Given the description of an element on the screen output the (x, y) to click on. 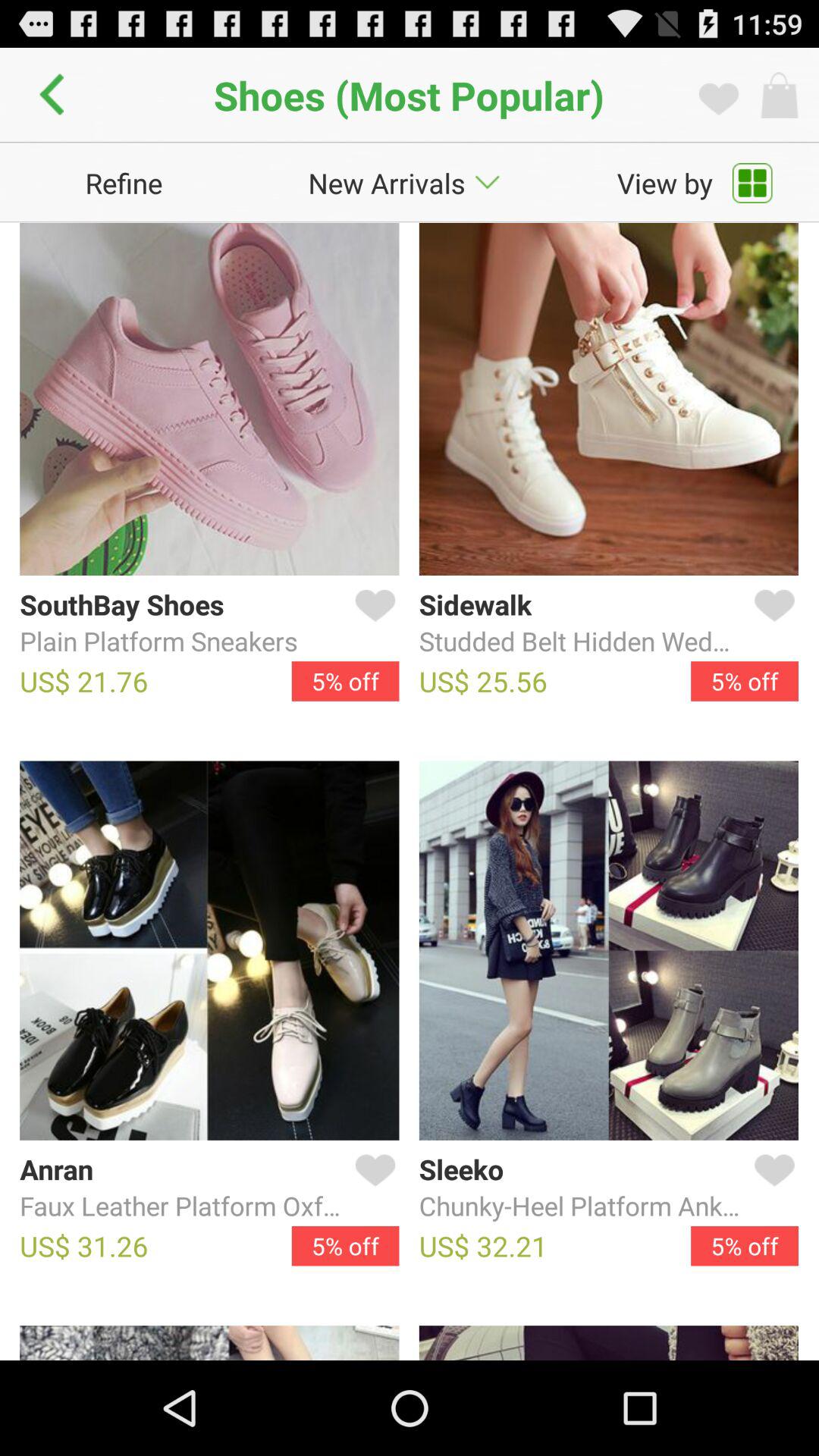
save to favorite (372, 1188)
